Given the description of an element on the screen output the (x, y) to click on. 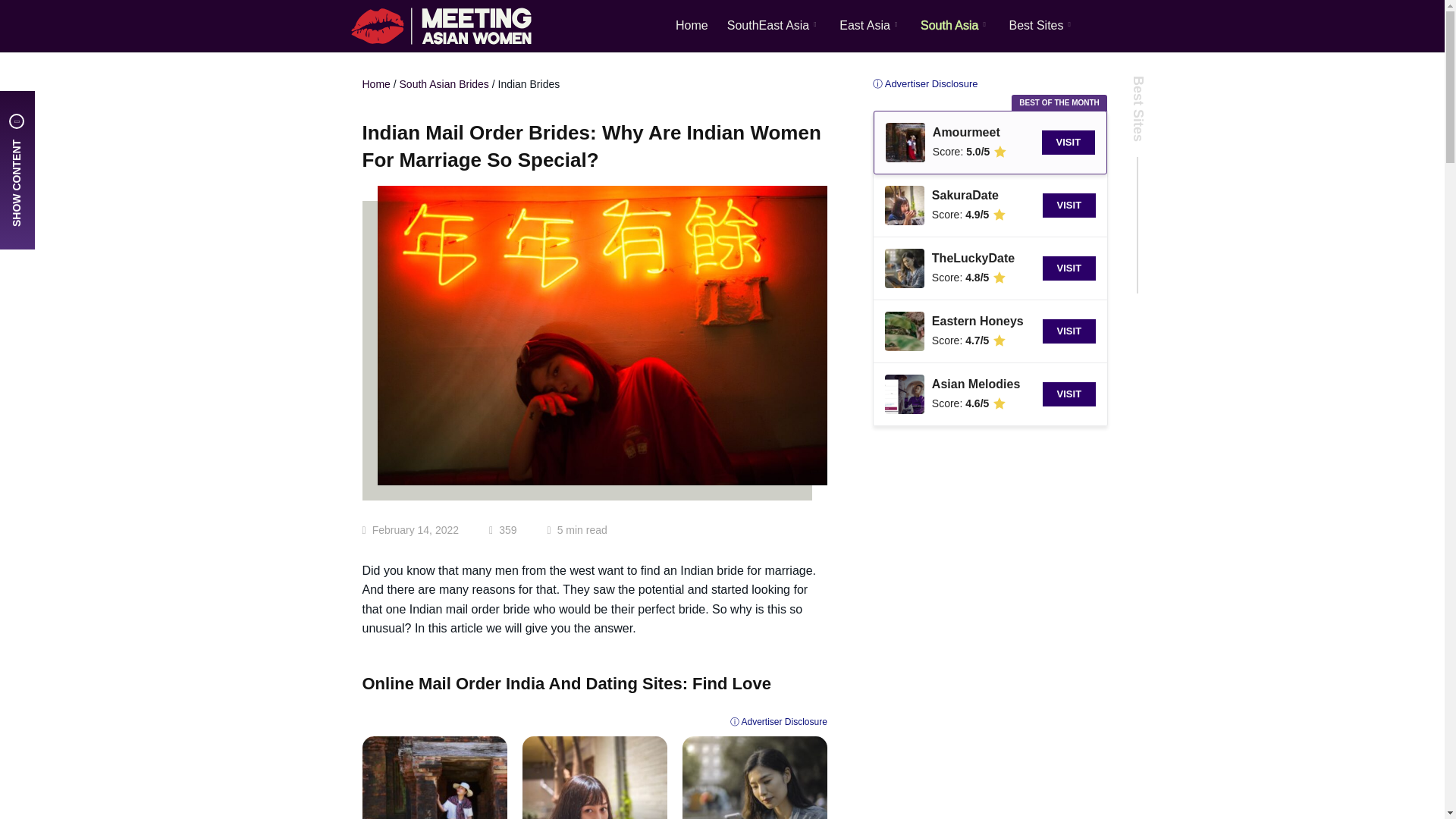
South Asia (955, 26)
East Asia (870, 26)
SouthEast Asia (773, 26)
Meeting Asian Women (440, 26)
Home (376, 83)
Best Sites (1041, 26)
South Asian Brides (443, 83)
